Given the description of an element on the screen output the (x, y) to click on. 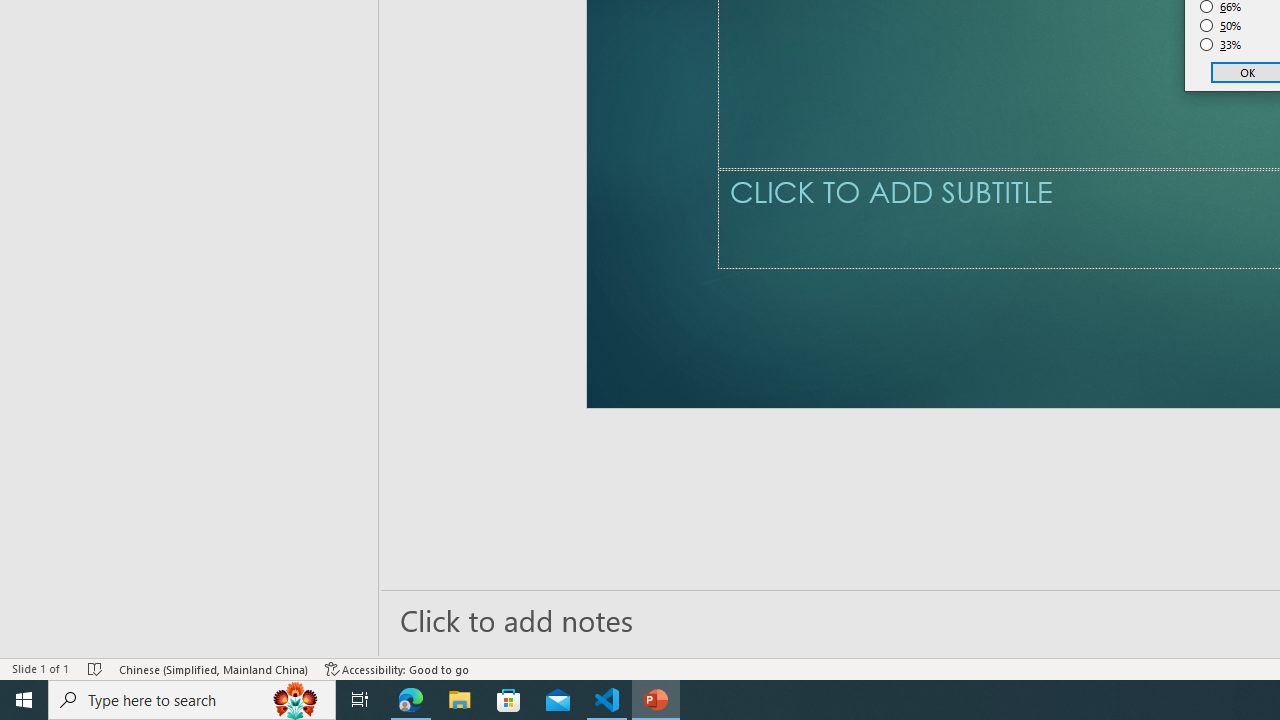
50% (1221, 25)
33% (1221, 44)
